Given the description of an element on the screen output the (x, y) to click on. 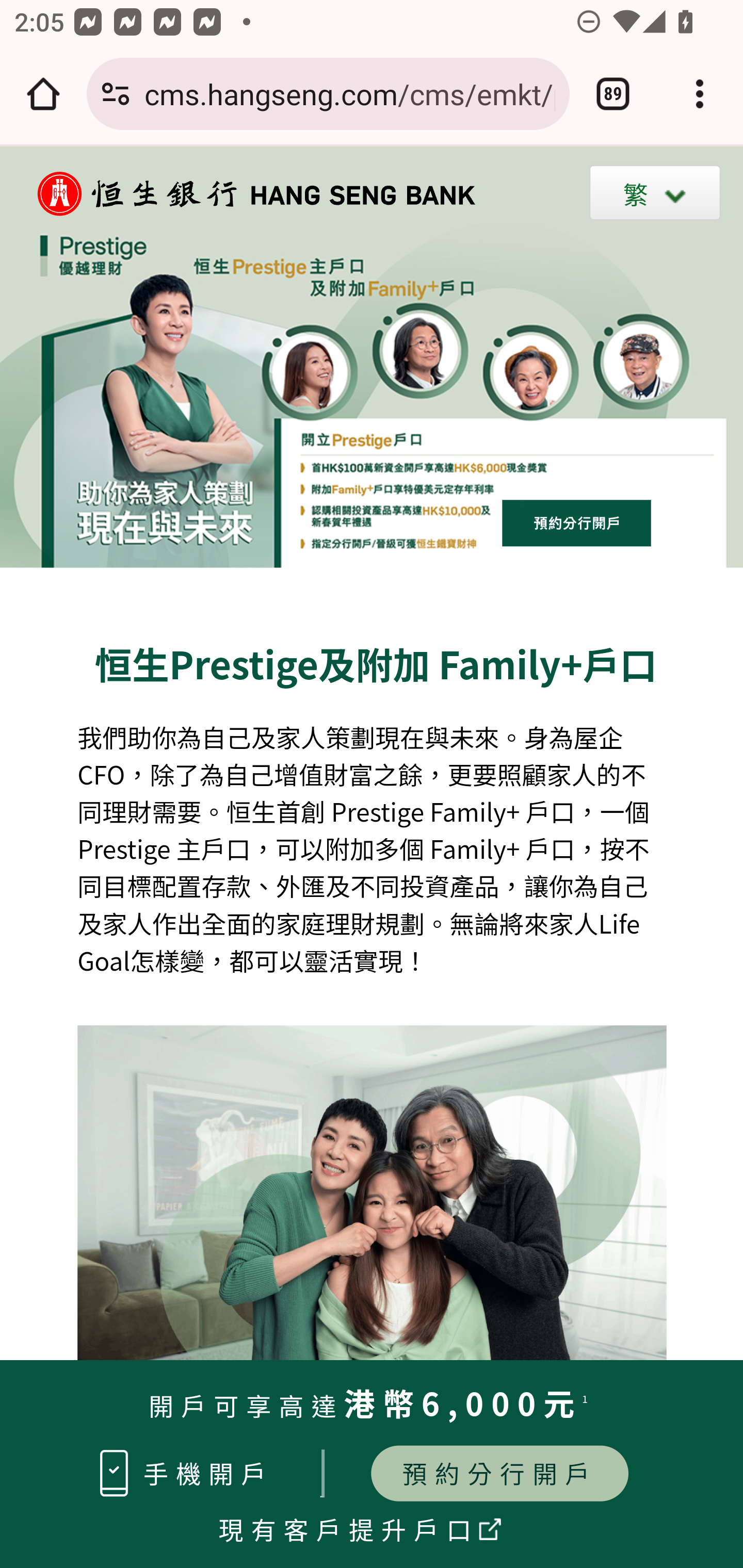
Open the home page (43, 93)
Connection is secure (115, 93)
Switch or close tabs (612, 93)
Customize and control Google Chrome (699, 93)
恒生銀行 Hang Sang Bank (246, 193)
繁  繁    (655, 192)
banner-cta (577, 522)
開戶可享高達 港幣6,000元 1 開戶可享高達 港幣6,000元 1 (371, 1407)
預約分行開戶 (499, 1473)
手機開戶 (208, 1472)
現有客戶提升戶口 (348, 1527)
